Given the description of an element on the screen output the (x, y) to click on. 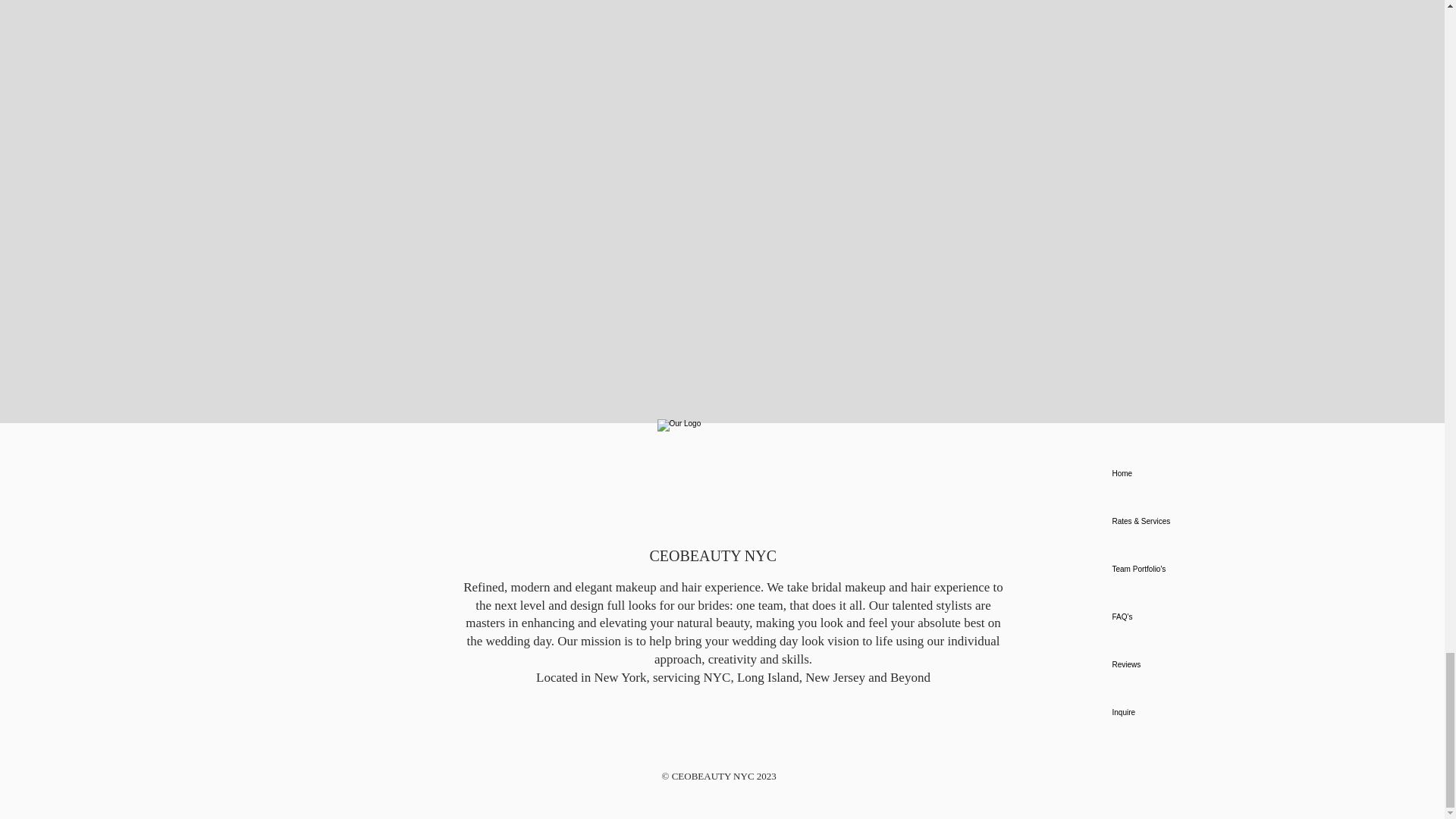
Reviews (1164, 664)
Inquire (1164, 712)
FAQ's (1164, 616)
Team Portfolio's (1164, 568)
Home (1164, 473)
